Given the description of an element on the screen output the (x, y) to click on. 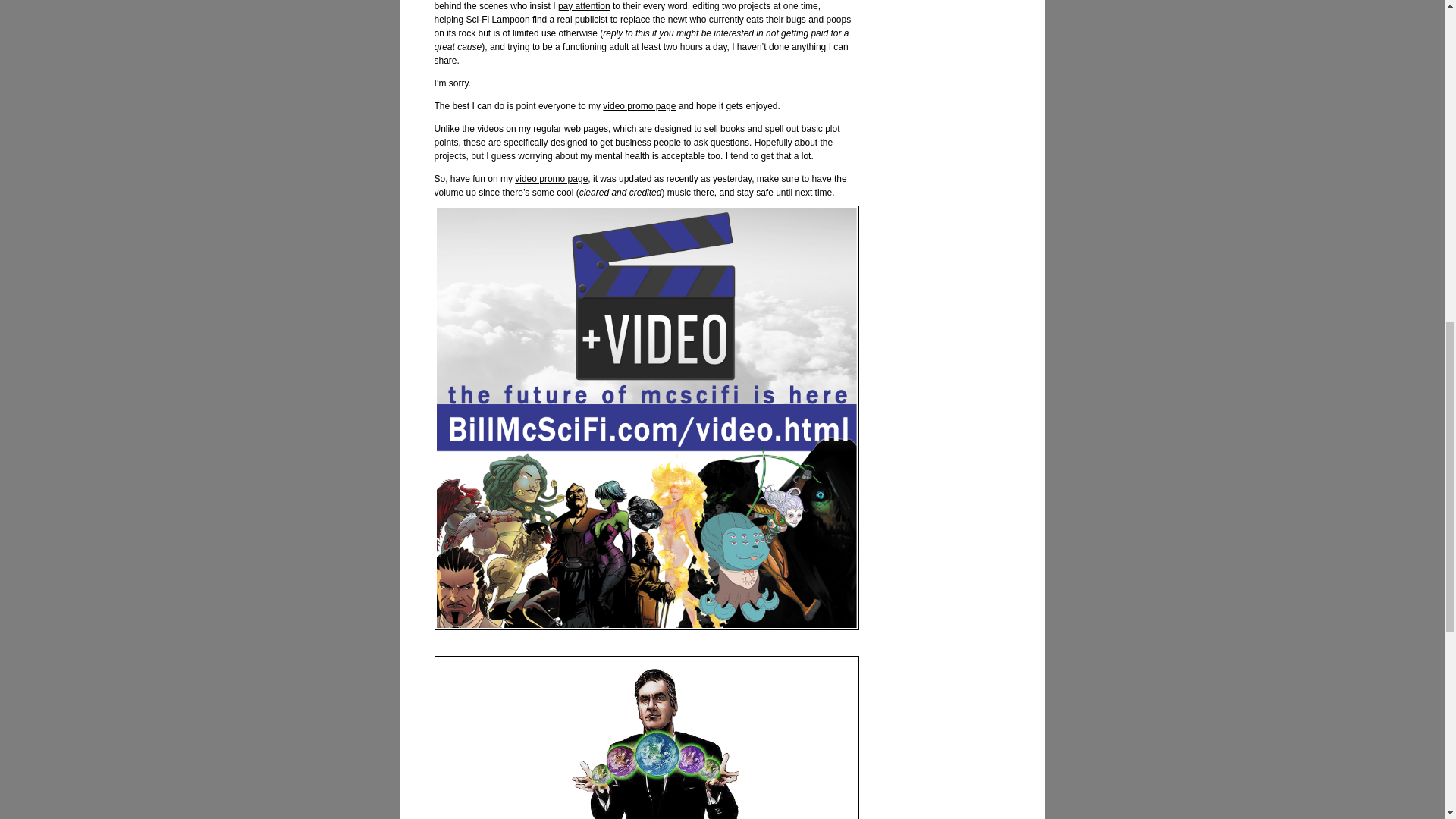
pay attention (583, 5)
Sci-Fi Lampoon (497, 19)
replace the newt (653, 19)
video promo page (551, 178)
video promo page (638, 105)
